Given the description of an element on the screen output the (x, y) to click on. 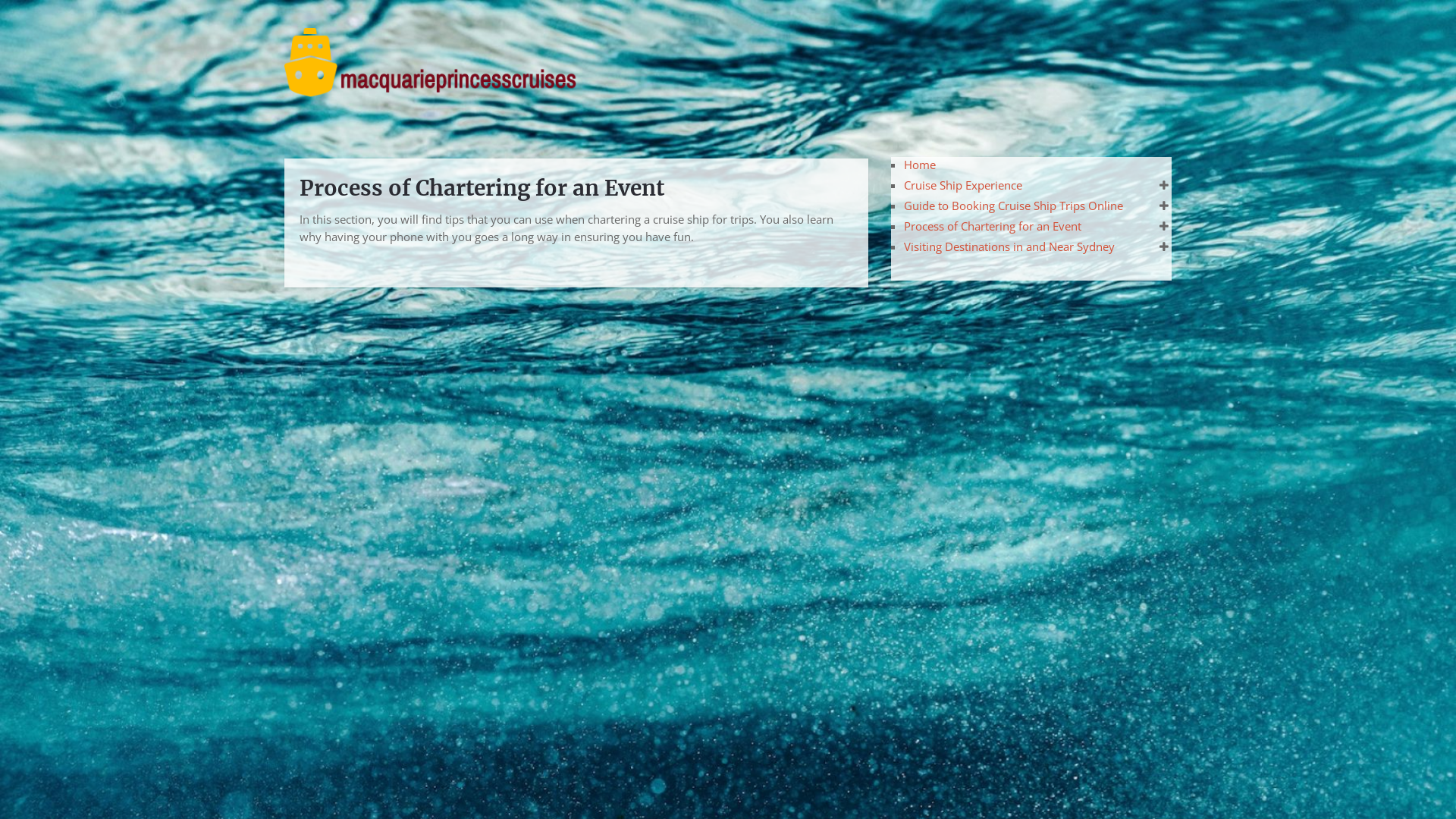
Guide to Booking Cruise Ship Trips Online Element type: text (1013, 205)
Process of Chartering for an Event Element type: text (992, 225)
Home Element type: text (919, 164)
Visiting Destinations in and Near Sydney Element type: text (1008, 246)
Cruise Ship Experience Element type: text (962, 184)
